Given the description of an element on the screen output the (x, y) to click on. 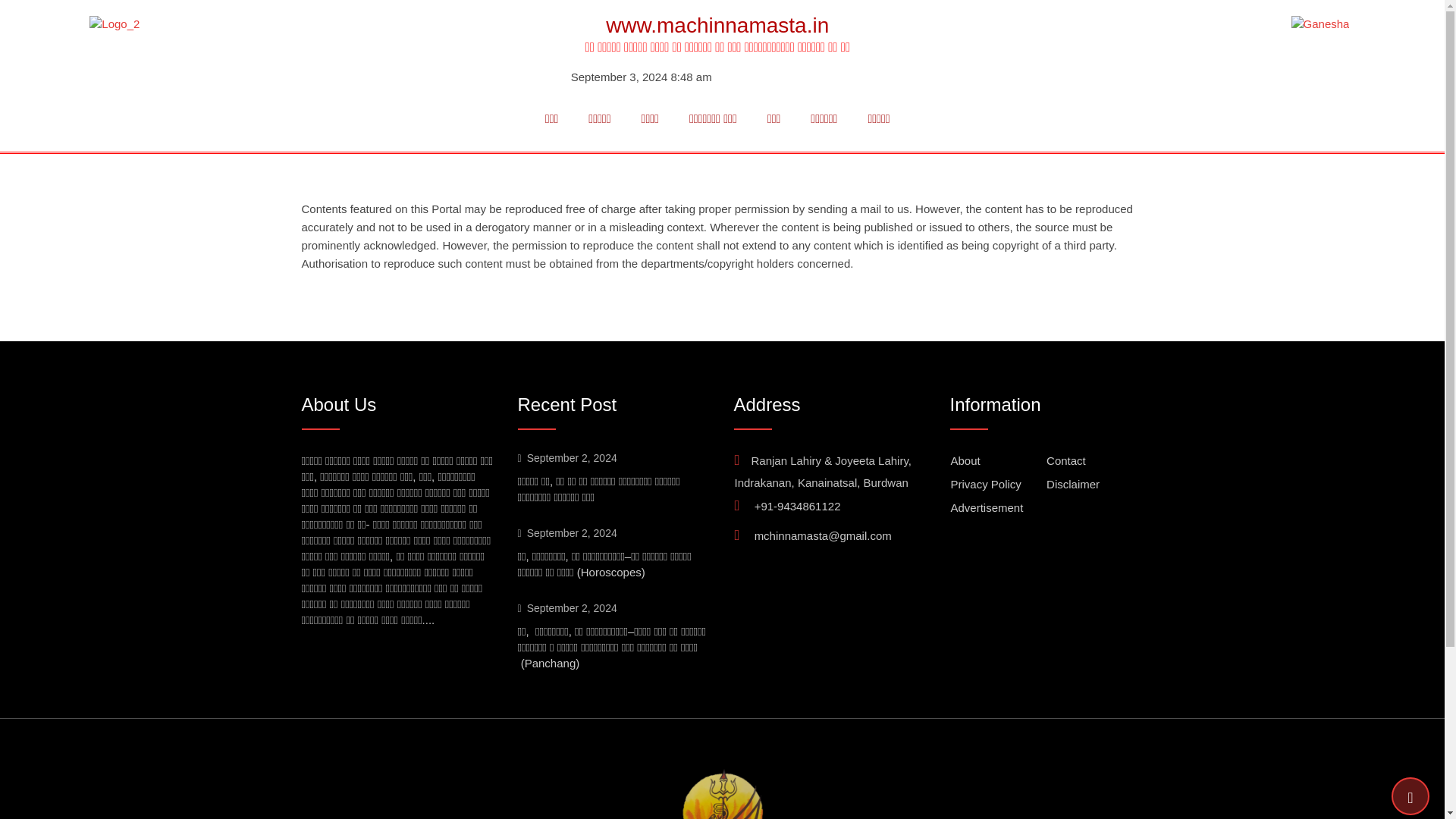
Ganesha (1320, 24)
About (964, 459)
Privacy Policy (986, 483)
Contact (1066, 459)
Disclaimer (1072, 483)
